Given the description of an element on the screen output the (x, y) to click on. 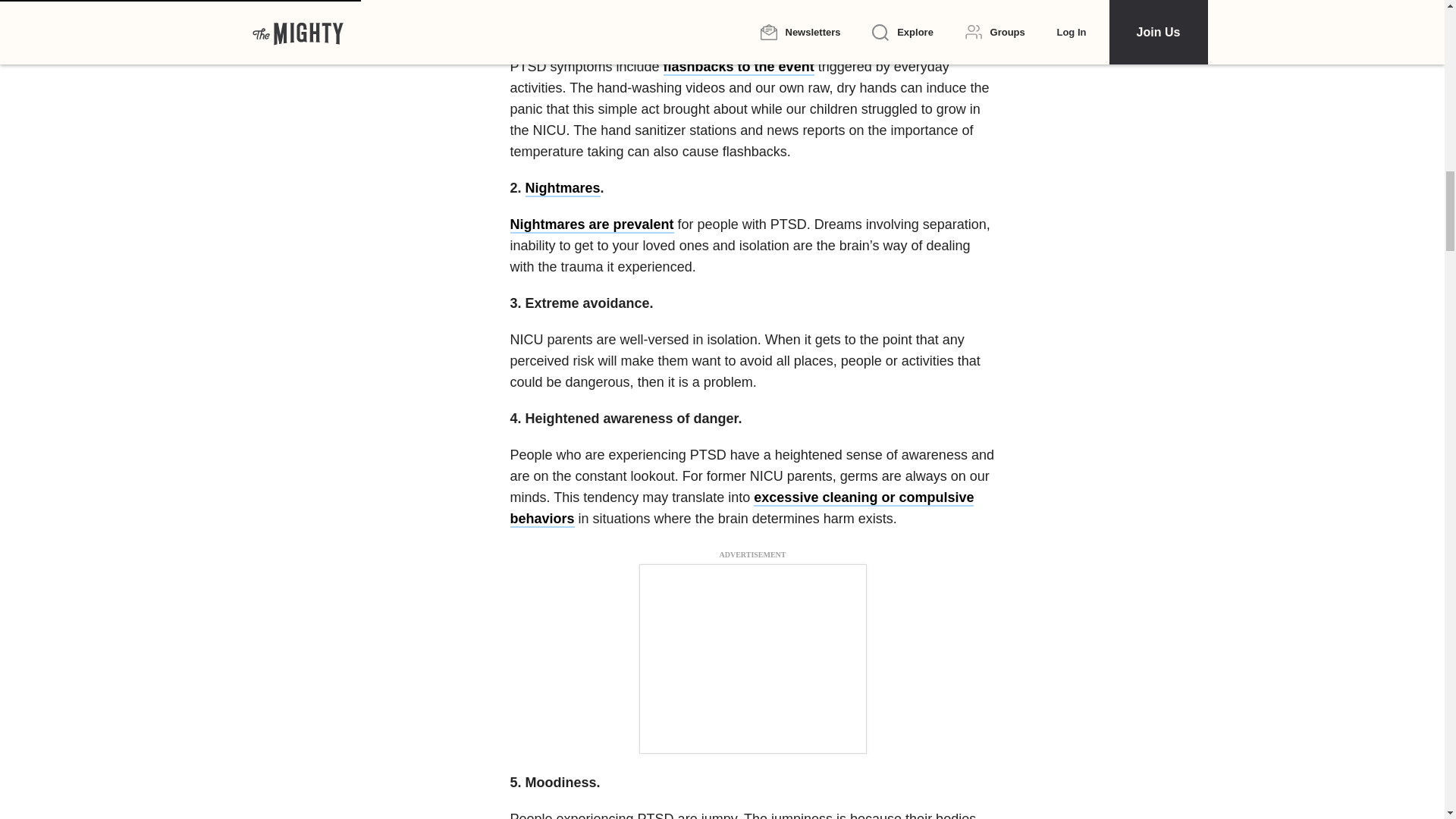
flashbacks to the event (738, 67)
Nightmares are prevalent (590, 225)
Nightmares (562, 188)
excessive cleaning or compulsive behaviors (741, 508)
